Given the description of an element on the screen output the (x, y) to click on. 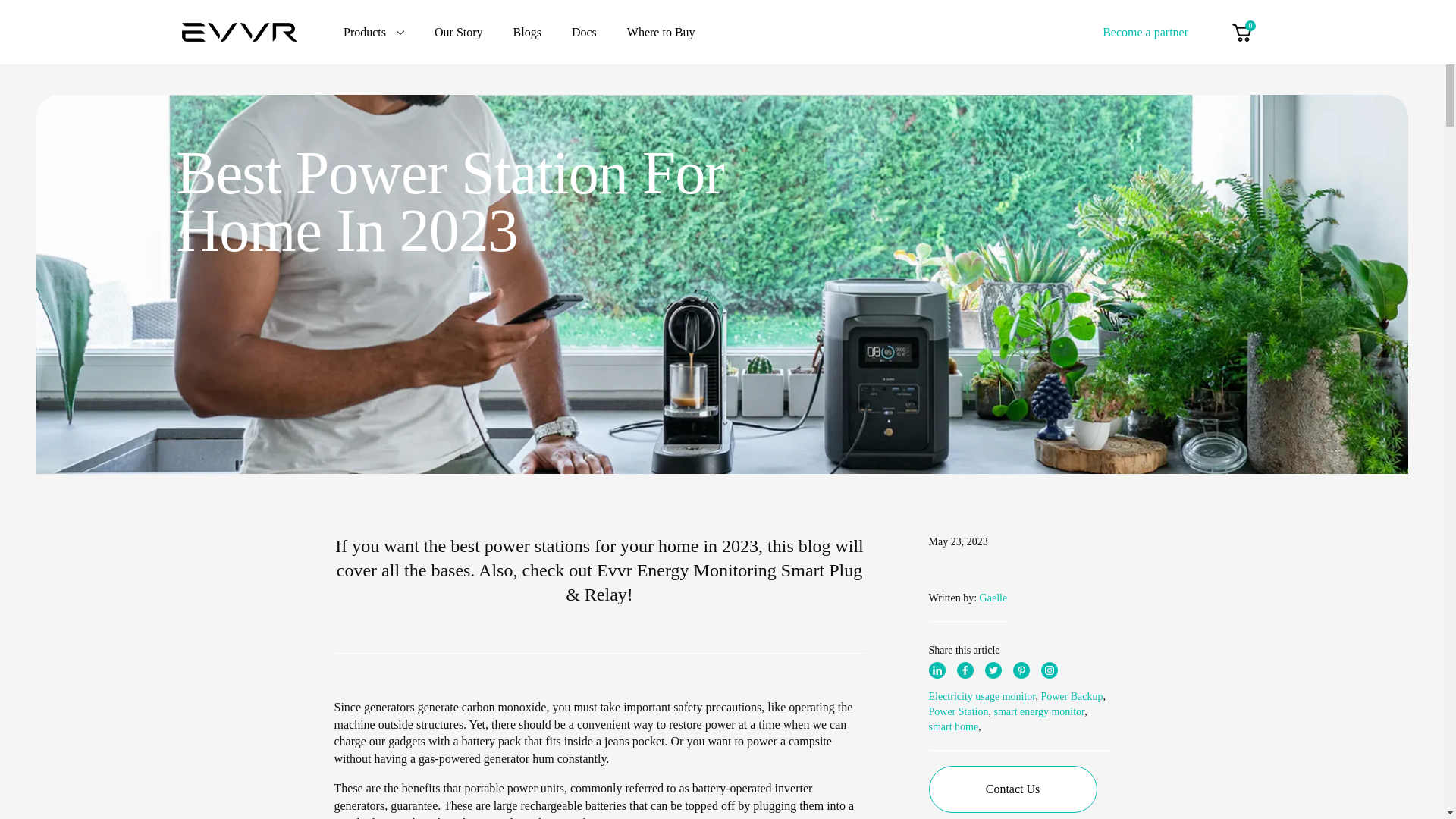
0 (1240, 31)
Become a partner (1144, 31)
Products (373, 31)
Where to Buy (661, 31)
Docs (584, 31)
Our Story (458, 31)
Blogs (527, 31)
